Given the description of an element on the screen output the (x, y) to click on. 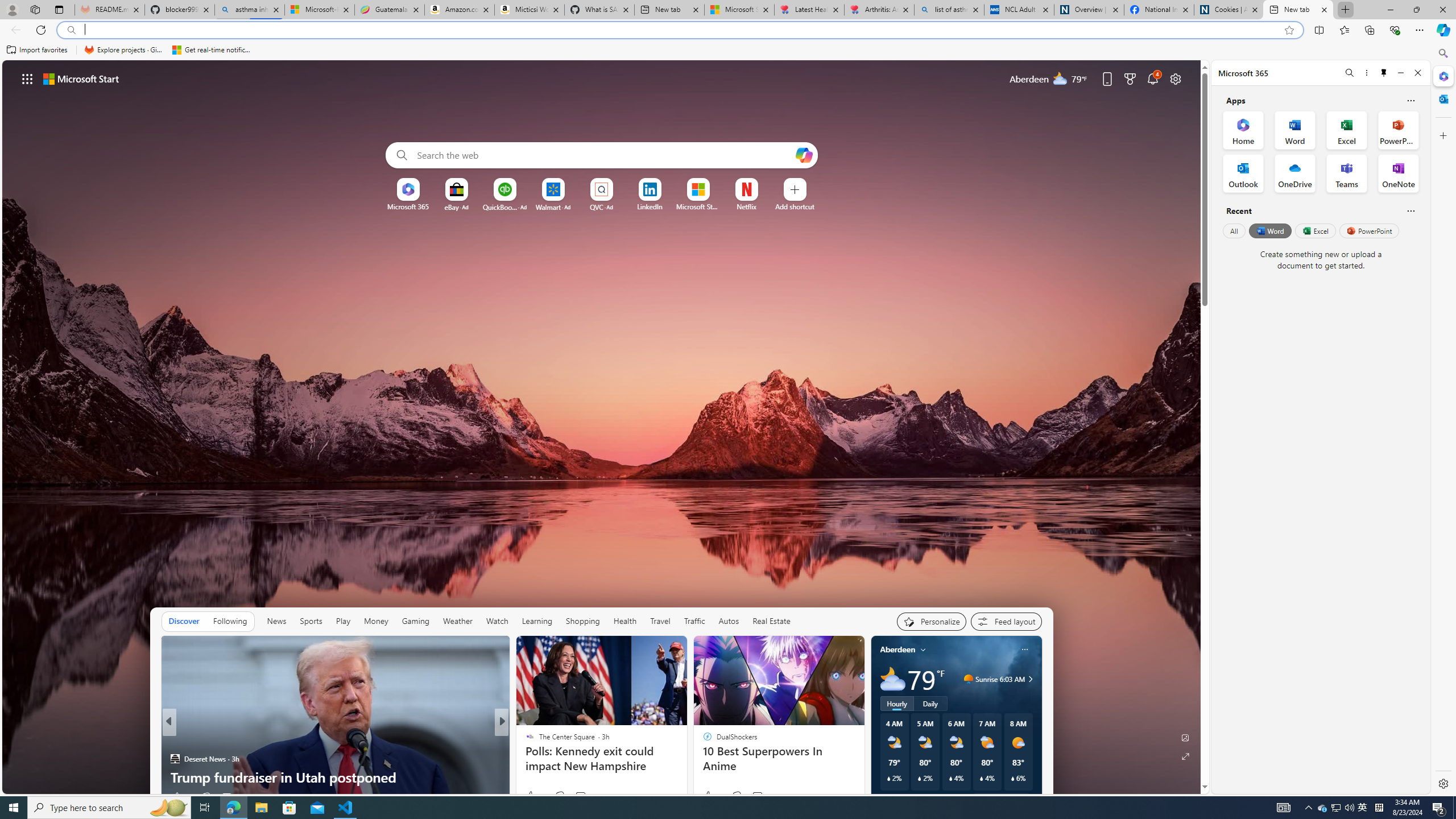
Sky Blue Bikes (541, 758)
Cryptopolitan (524, 740)
All (1233, 230)
